Given the description of an element on the screen output the (x, y) to click on. 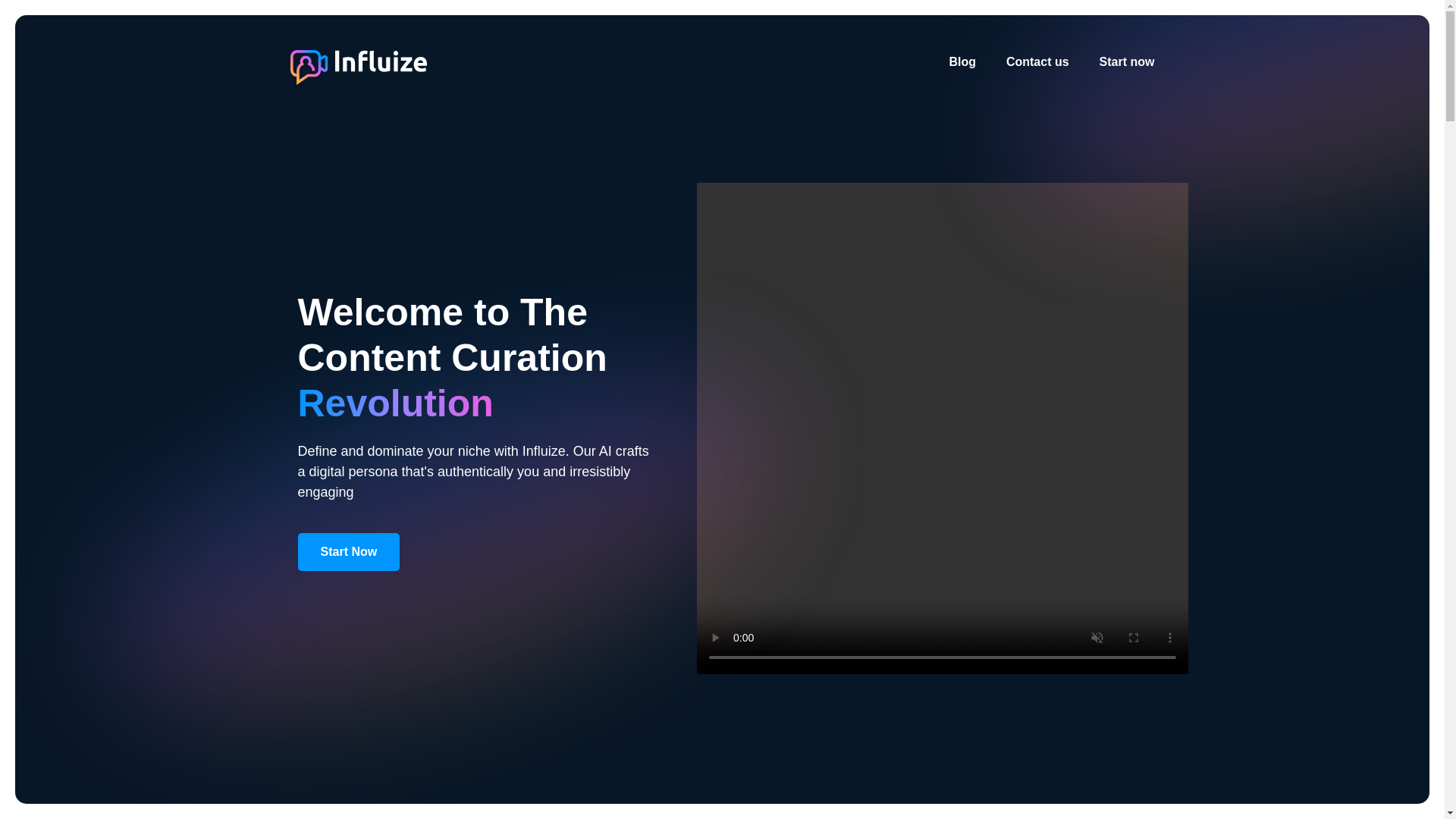
Start Now (347, 551)
Contact us (1037, 61)
Start now (1126, 61)
